Given the description of an element on the screen output the (x, y) to click on. 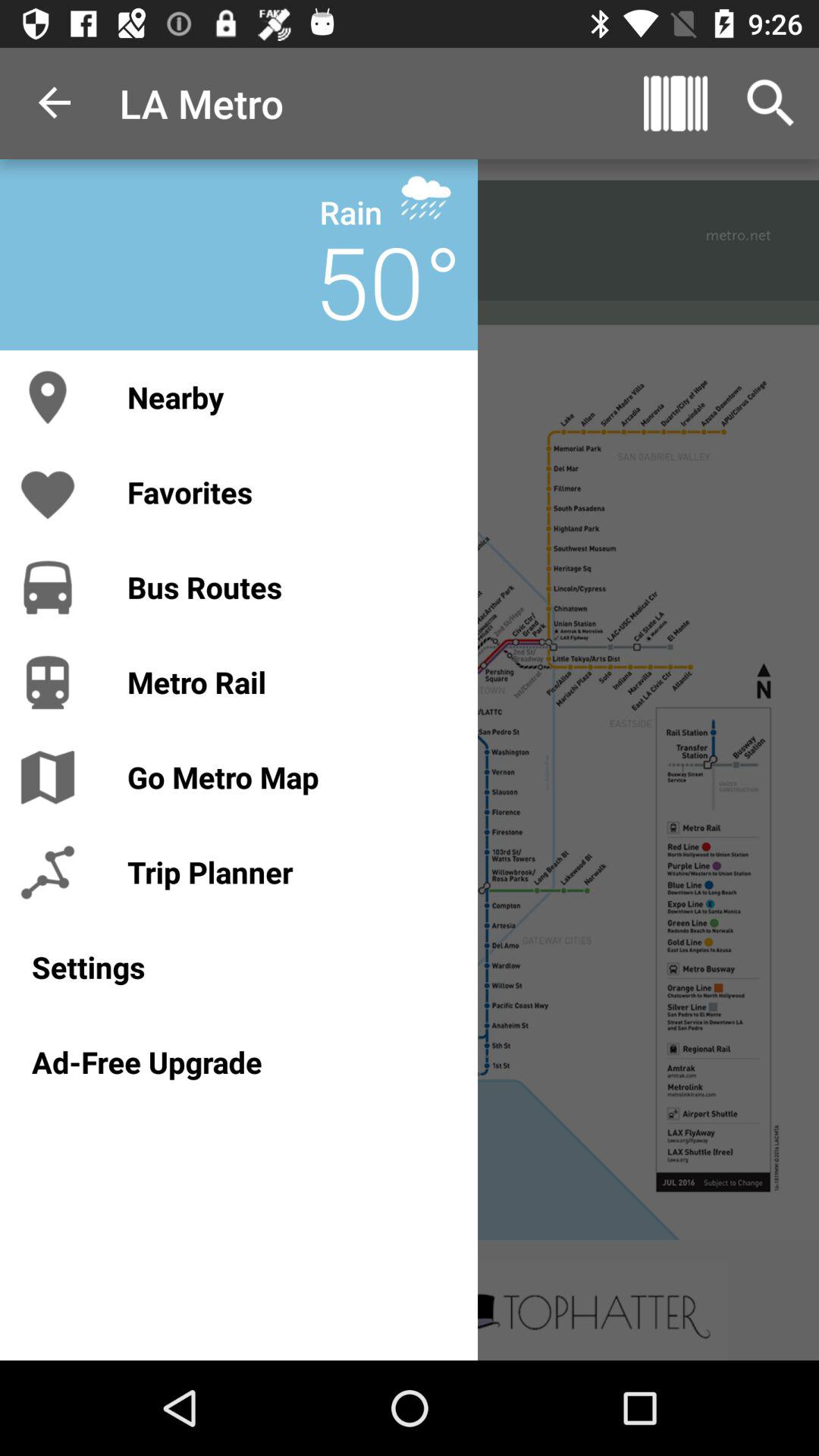
swipe until the metro rail icon (286, 682)
